Given the description of an element on the screen output the (x, y) to click on. 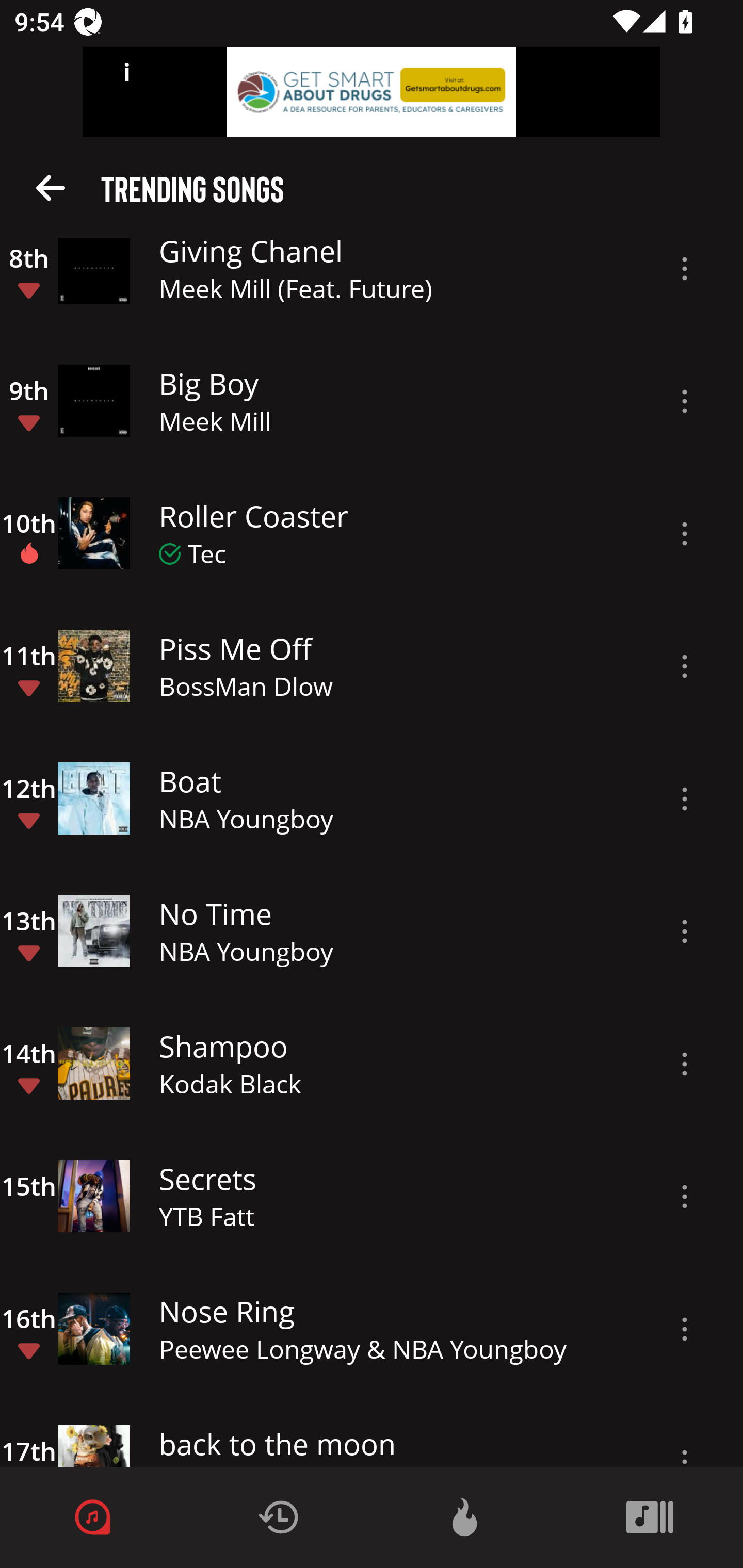
Description (685, 268)
Description (685, 401)
Description (685, 533)
Description (685, 666)
Description (685, 798)
Description (685, 931)
Description (685, 1063)
Description (685, 1197)
Description (685, 1328)
